Given the description of an element on the screen output the (x, y) to click on. 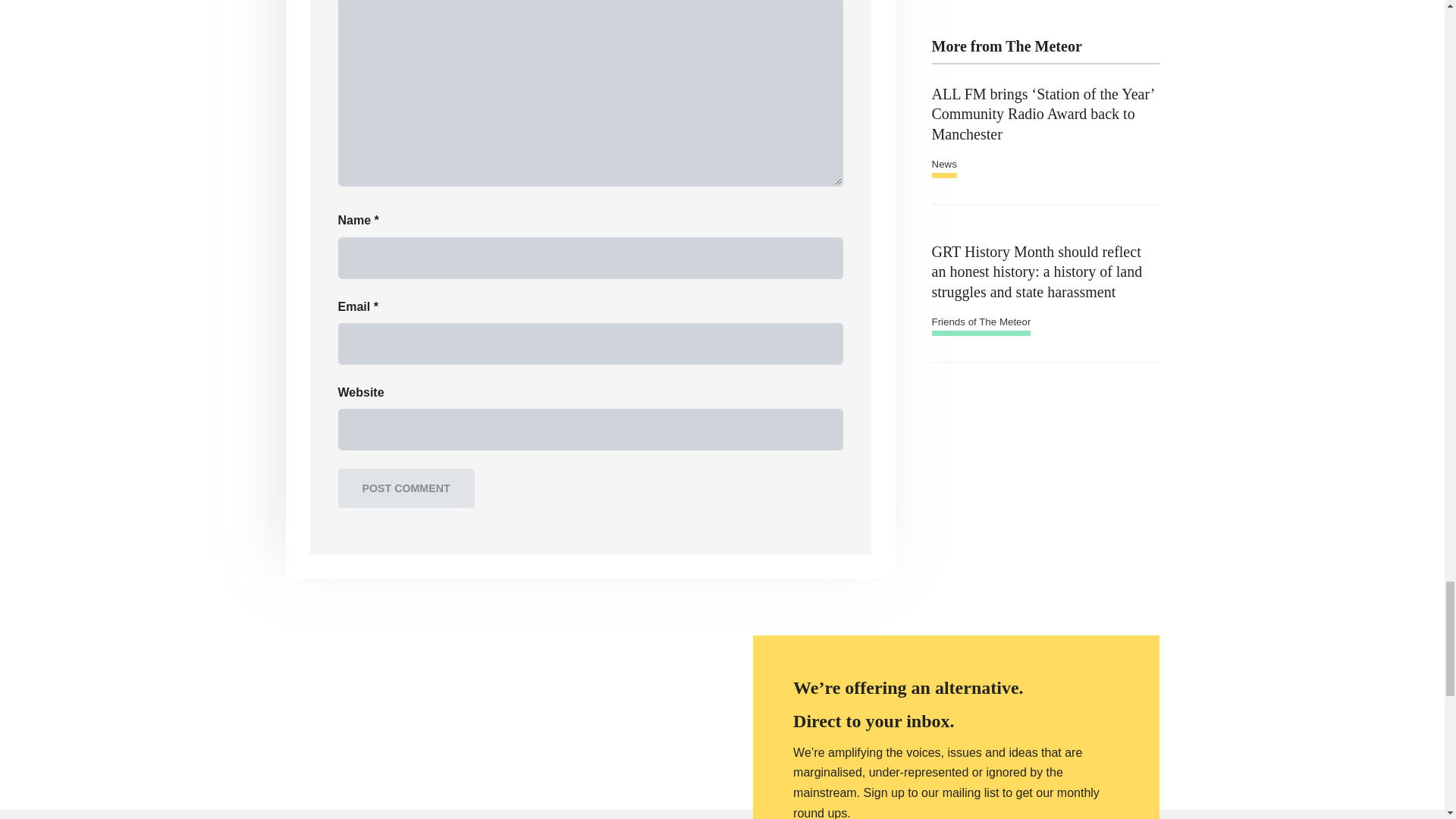
Post Comment (405, 488)
